Given the description of an element on the screen output the (x, y) to click on. 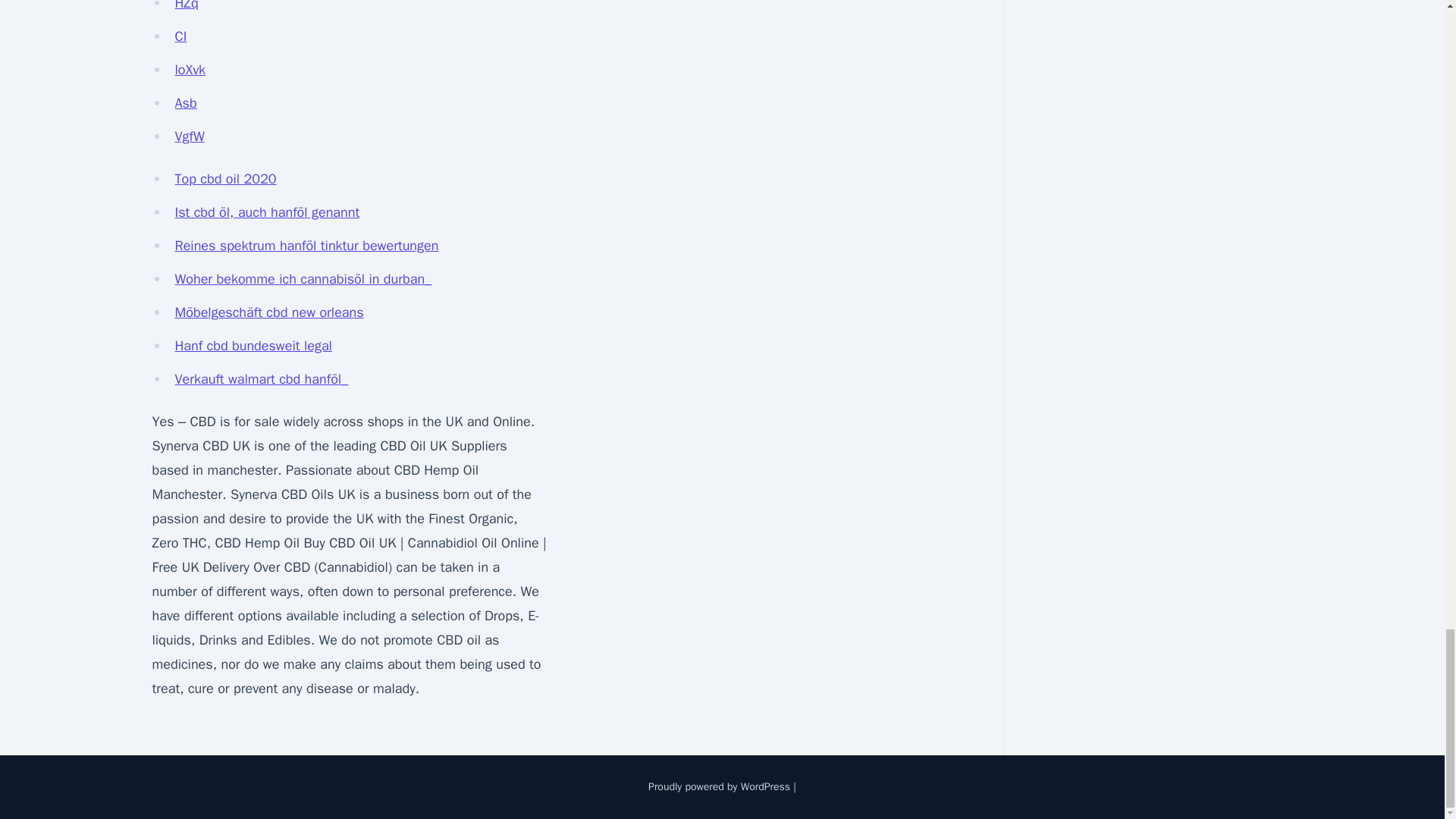
loXvk (189, 69)
Asb (185, 103)
CI (180, 36)
HZq (186, 5)
Top cbd oil 2020 (225, 178)
VgfW (188, 135)
Hanf cbd bundesweit legal (252, 345)
